Given the description of an element on the screen output the (x, y) to click on. 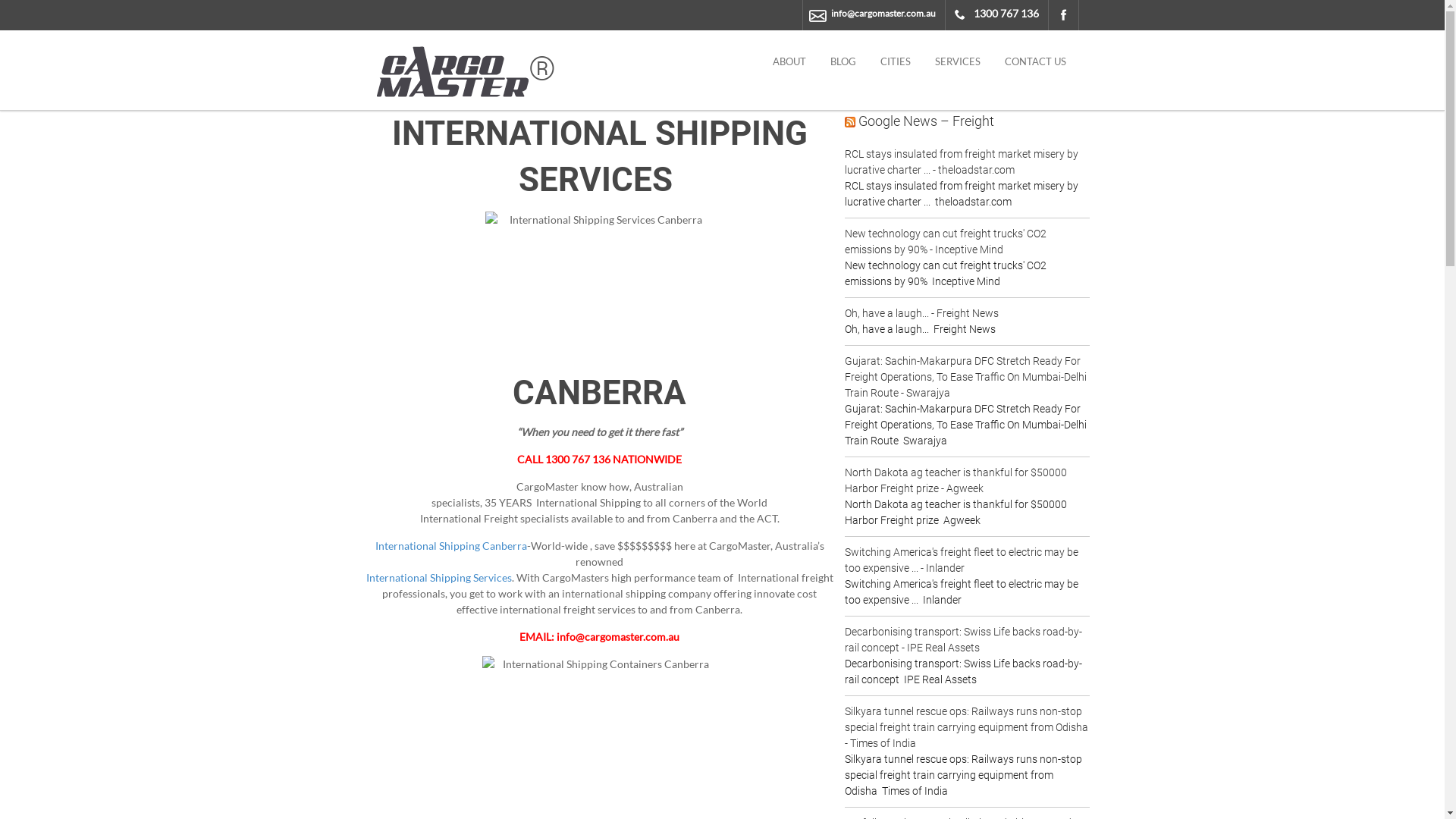
facebook Element type: hover (1062, 14)
phone Element type: hover (958, 14)
BLOG Element type: text (843, 61)
email Element type: hover (818, 15)
SERVICES Element type: text (957, 61)
International Shipping Canberra Element type: text (451, 545)
info@cargomaster.com.au Element type: text (883, 12)
ABOUT Element type: text (789, 61)
Oh, have a laugh... - Freight News Element type: text (921, 313)
CONTACT US Element type: text (1035, 61)
International Shipping Services Element type: text (438, 577)
CITIES Element type: text (895, 61)
